Given the description of an element on the screen output the (x, y) to click on. 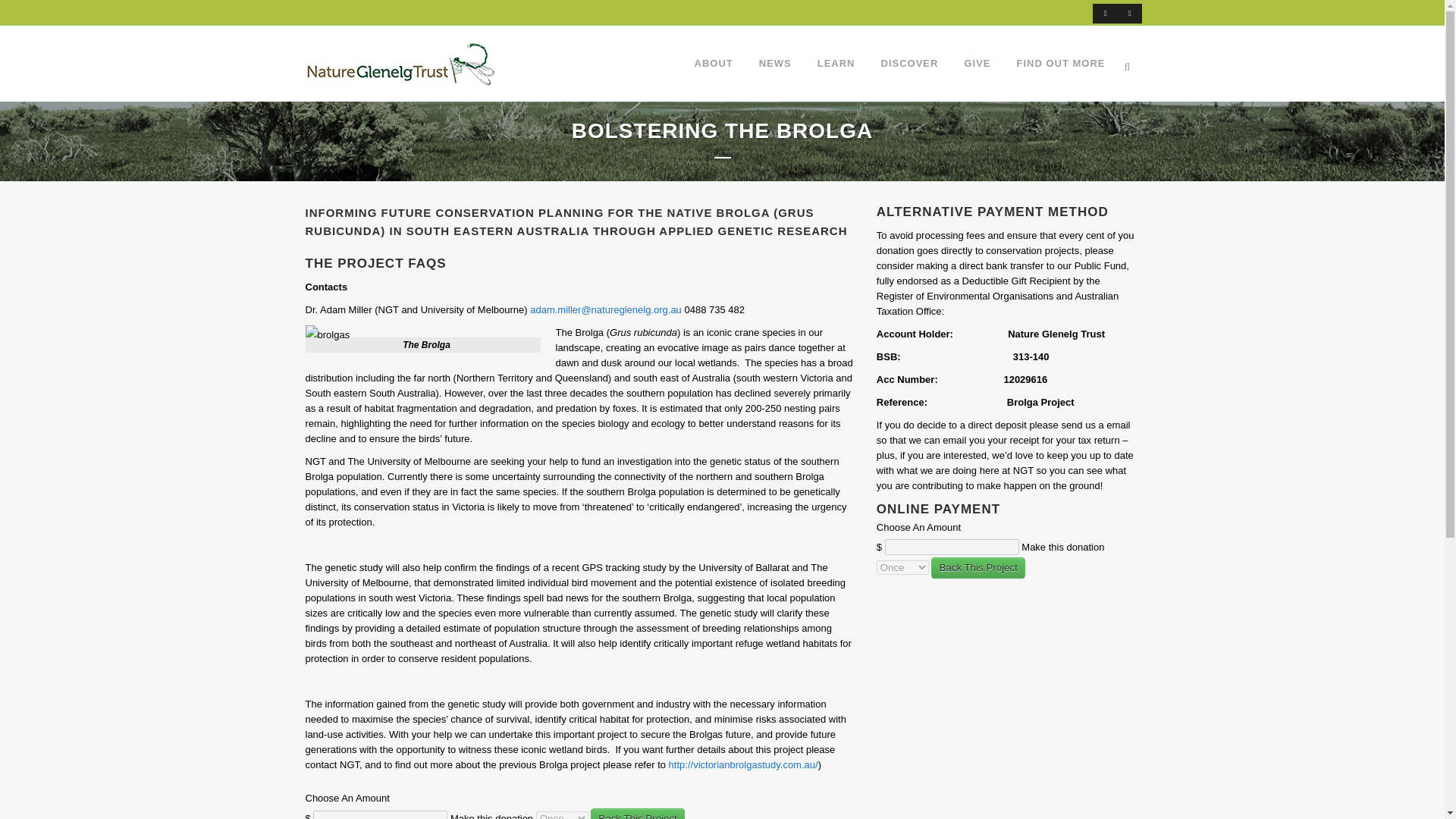
Back This Project (978, 567)
DISCOVER (909, 63)
Back This Project (637, 813)
FIND OUT MORE (1061, 63)
